Given the description of an element on the screen output the (x, y) to click on. 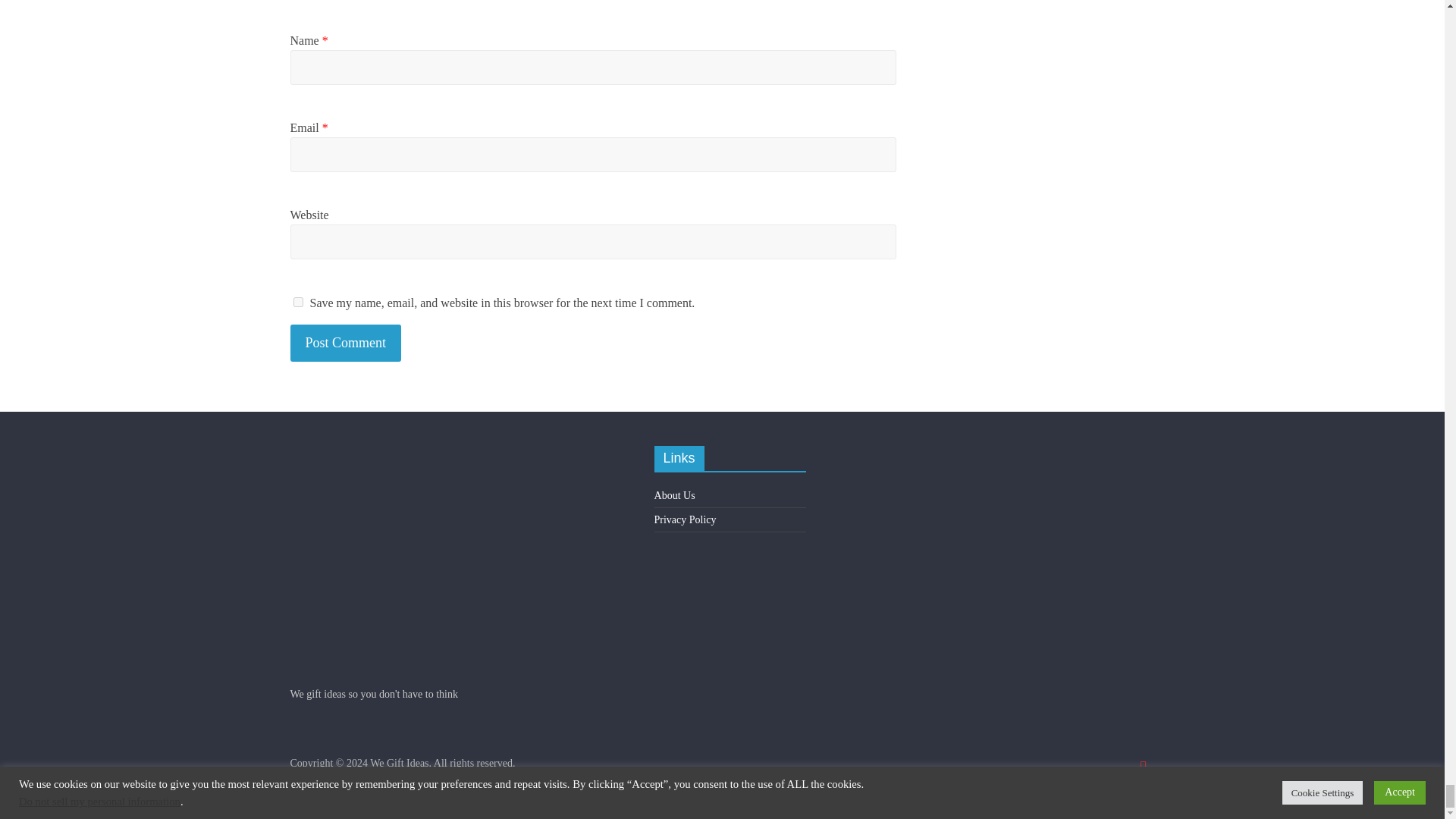
yes (297, 302)
Post Comment (345, 342)
